Given the description of an element on the screen output the (x, y) to click on. 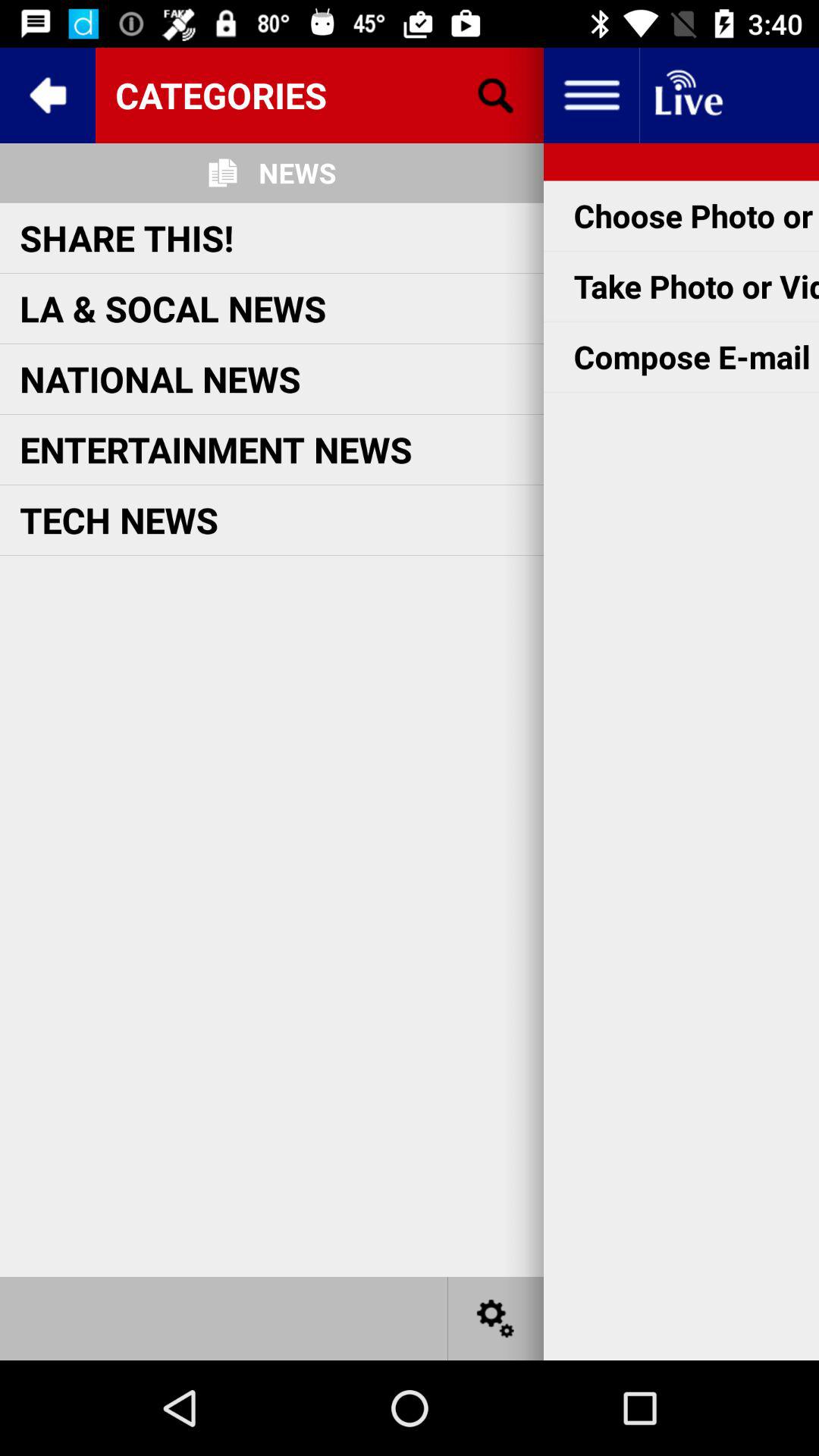
choose the la & socal news (172, 308)
